Given the description of an element on the screen output the (x, y) to click on. 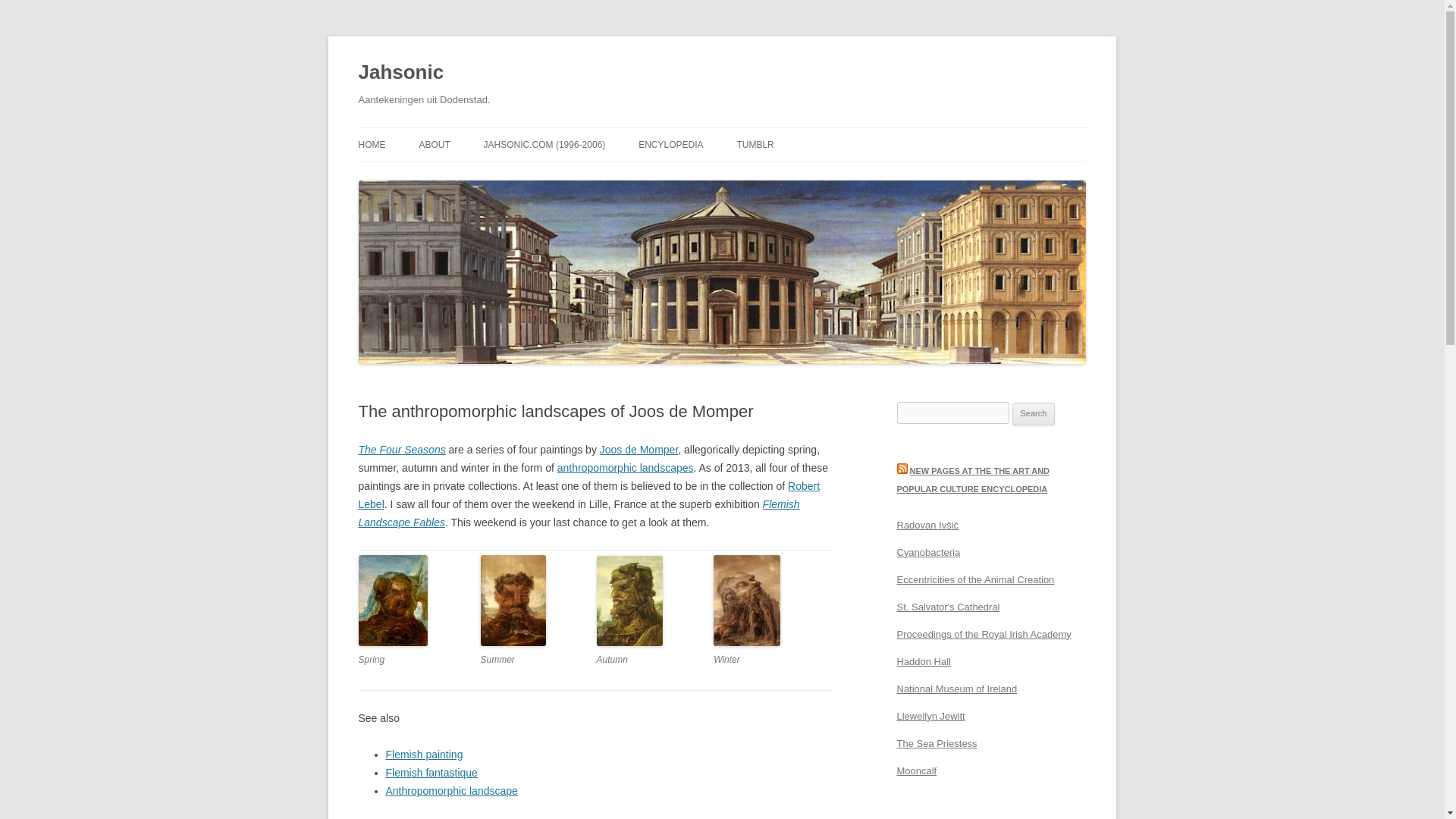
Robert Lebel (588, 494)
Flemish painting (424, 754)
Image:Joos de Momper 2.jpg (513, 643)
Flemish fantastique (431, 772)
Flemish painting (424, 754)
Image:Autumn.jpg (629, 643)
Cyanobacteria (927, 552)
Jahsonic (401, 72)
Joos de Momper (638, 449)
NEW PAGES AT THE THE ART AND POPULAR CULTURE ENCYCLOPEDIA (972, 479)
Anthropomorphic landscape (625, 467)
TUMBLR (754, 144)
Search (1033, 413)
Eccentricities of the Animal Creation (975, 579)
